Given the description of an element on the screen output the (x, y) to click on. 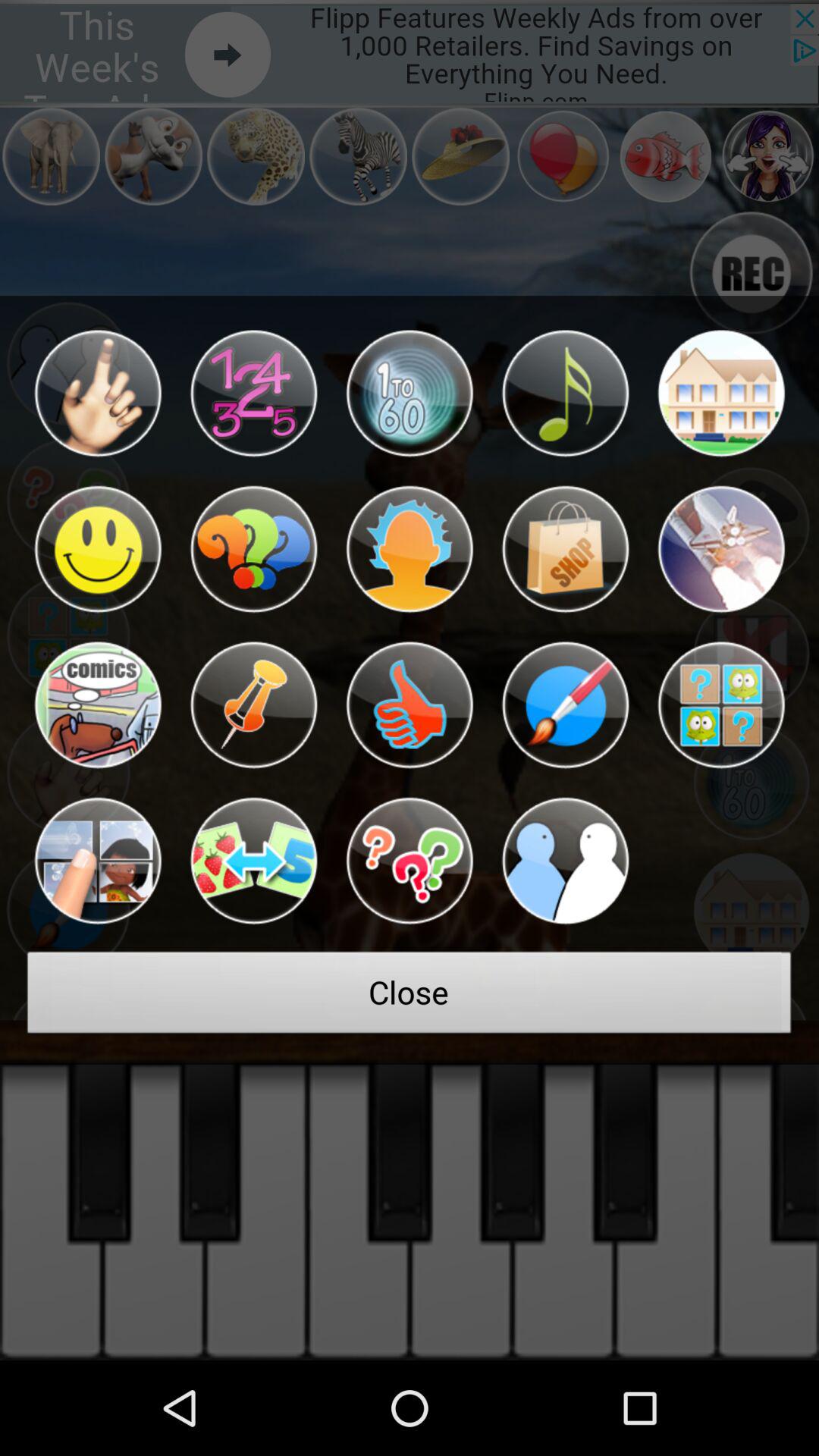
like option (409, 705)
